Given the description of an element on the screen output the (x, y) to click on. 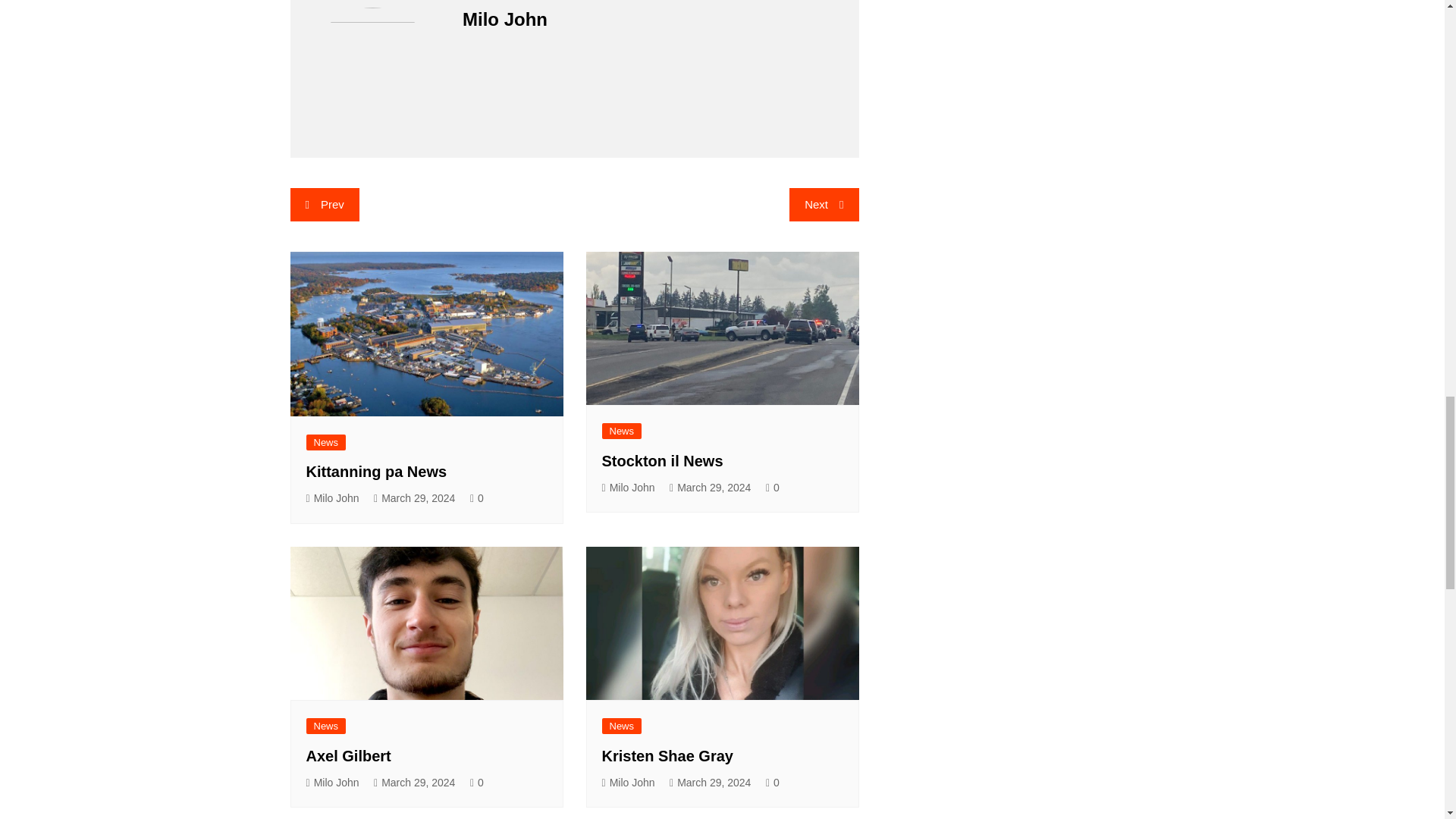
Milo John (332, 497)
Milo John (628, 487)
March 29, 2024 (414, 497)
Prev (323, 204)
News (622, 430)
Next (824, 204)
Stockton il News (662, 460)
March 29, 2024 (710, 487)
Kittanning pa News (375, 471)
News (325, 442)
